Given the description of an element on the screen output the (x, y) to click on. 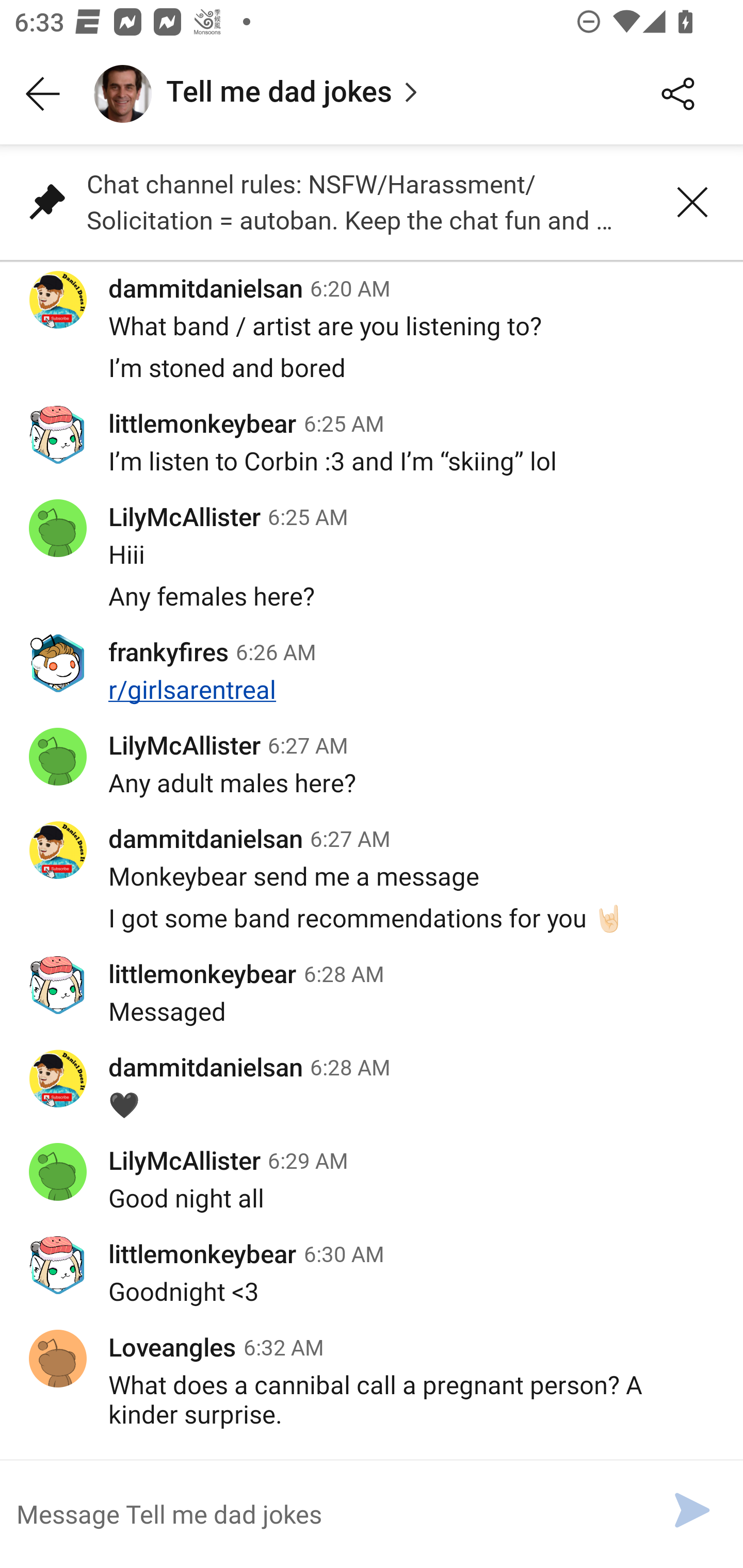
Back (43, 93)
Tell me dad jokes (353, 93)
Share (677, 93)
I’m stoned and bored (371, 378)
LilyMcAllister LilyMcAllister posted 6:25 AM Hiii (371, 531)
Any females here? (371, 607)
I got some band recommendations for you 🤘🏻 (371, 928)
dammitdanielsan dammitdanielsan posted 6:28 AM 🖤 (371, 1085)
Send message (692, 1510)
Message Message Tell me dad jokes (324, 1513)
